Given the description of an element on the screen output the (x, y) to click on. 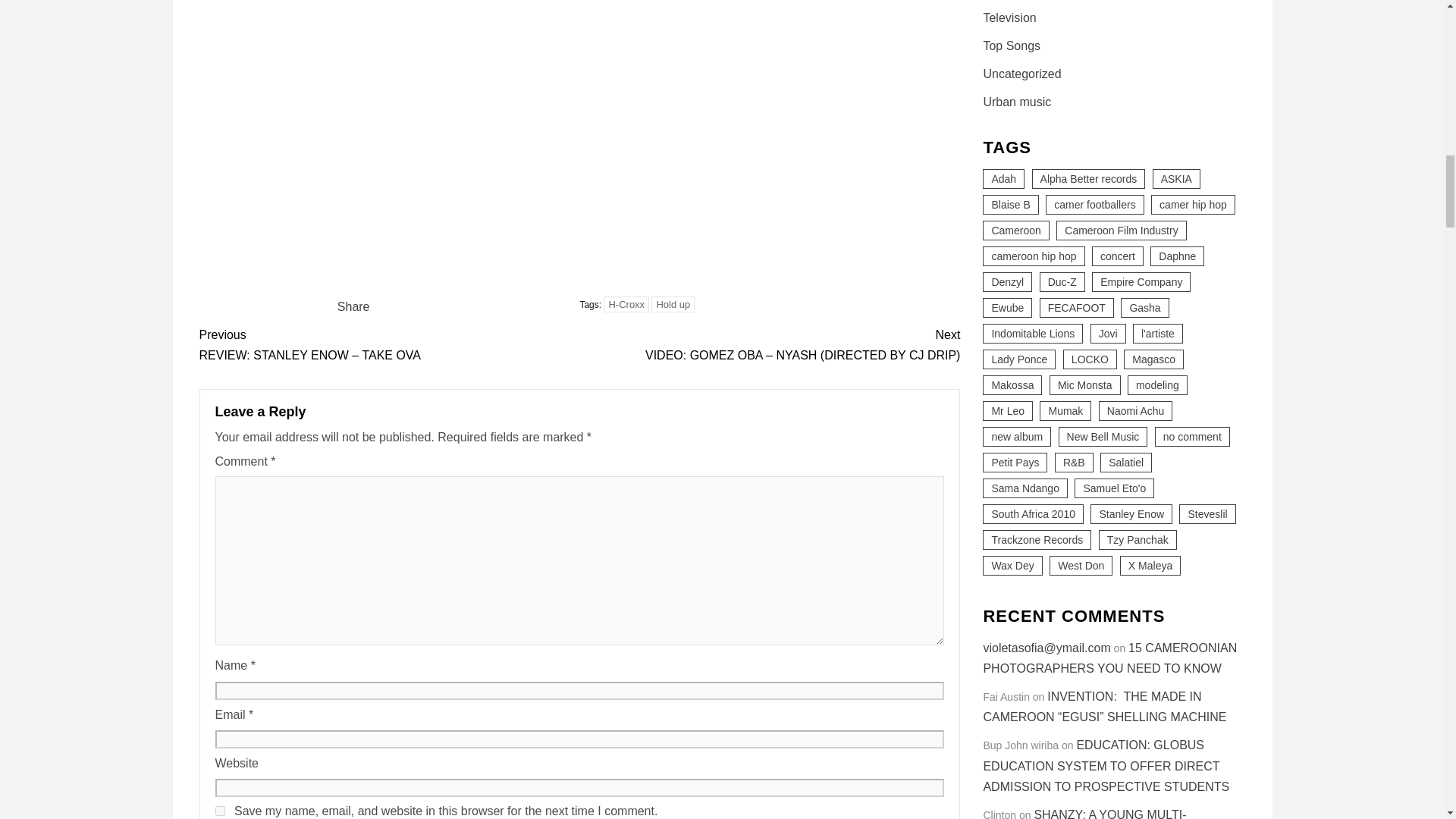
Share (353, 306)
H-Croxx (626, 304)
Hold up (672, 304)
yes (220, 810)
